Given the description of an element on the screen output the (x, y) to click on. 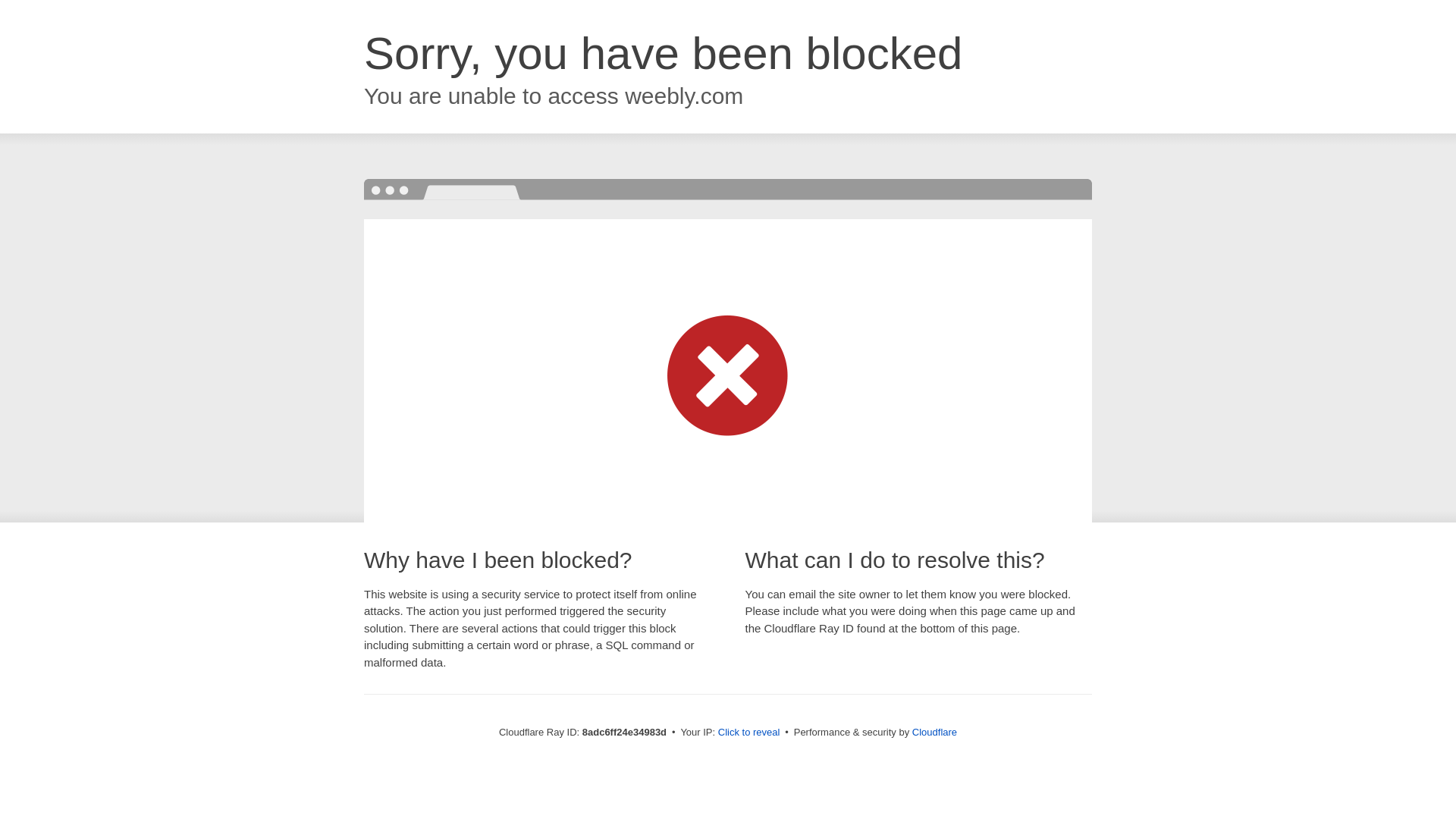
Click to reveal (748, 732)
Cloudflare (934, 731)
